Given the description of an element on the screen output the (x, y) to click on. 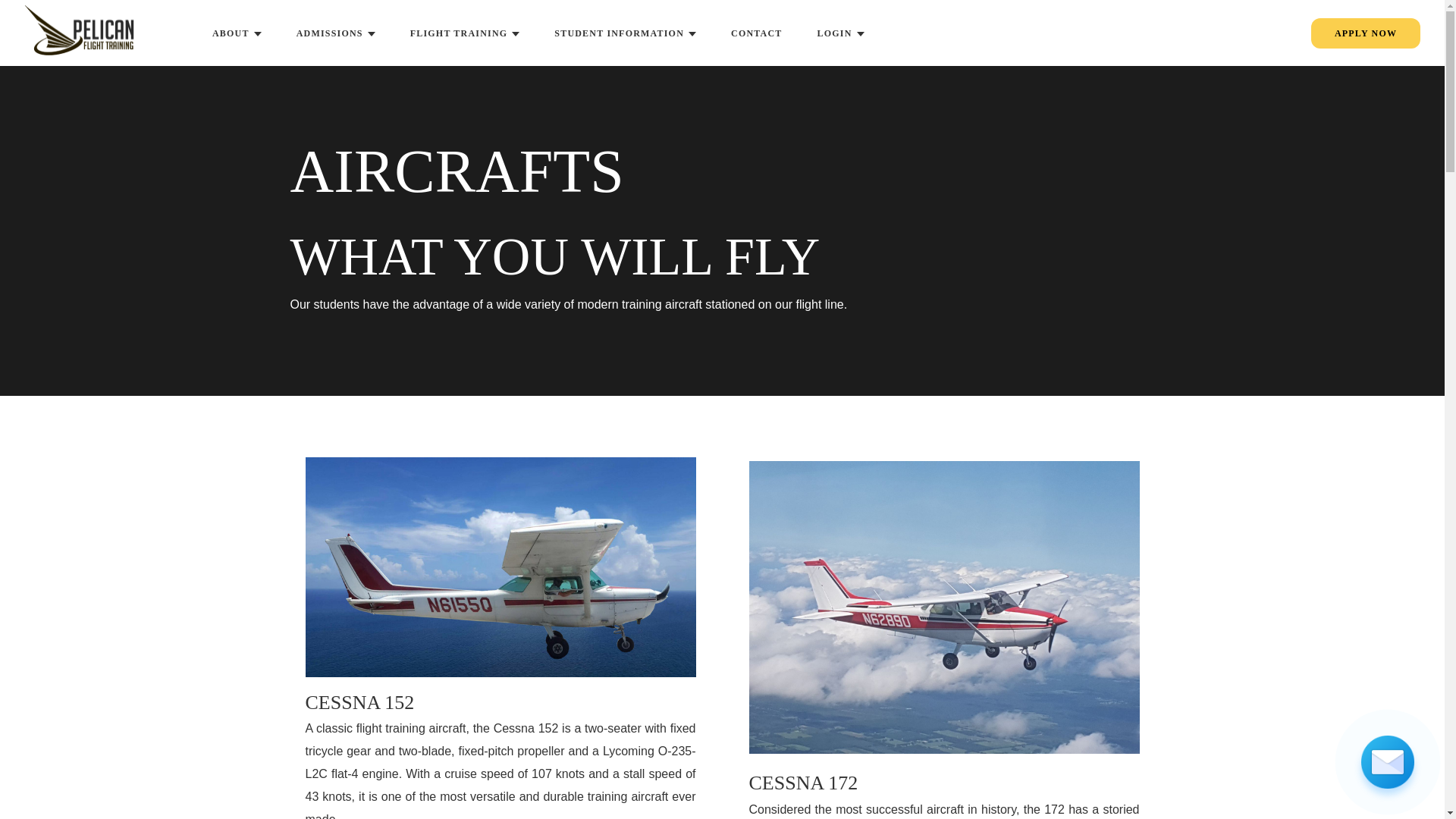
ADMISSIONS (335, 33)
FLIGHT TRAINING (464, 33)
CONTACT (756, 33)
ABOUT (236, 33)
APPLY NOW (1366, 33)
STUDENT INFORMATION (624, 33)
LOGIN (840, 33)
